Given the description of an element on the screen output the (x, y) to click on. 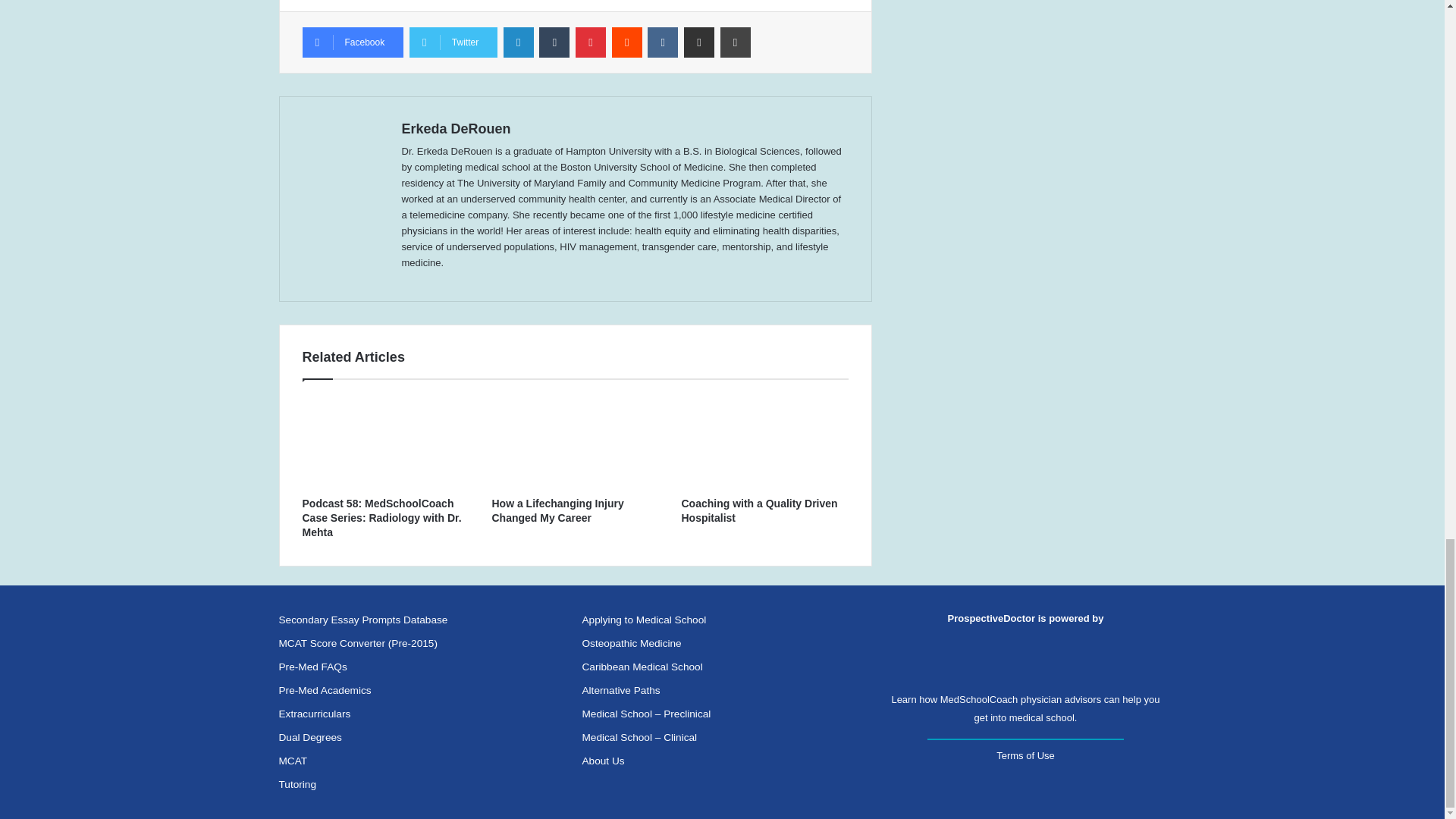
Tumblr (553, 42)
LinkedIn (518, 42)
Facebook (352, 42)
Twitter (453, 42)
